Given the description of an element on the screen output the (x, y) to click on. 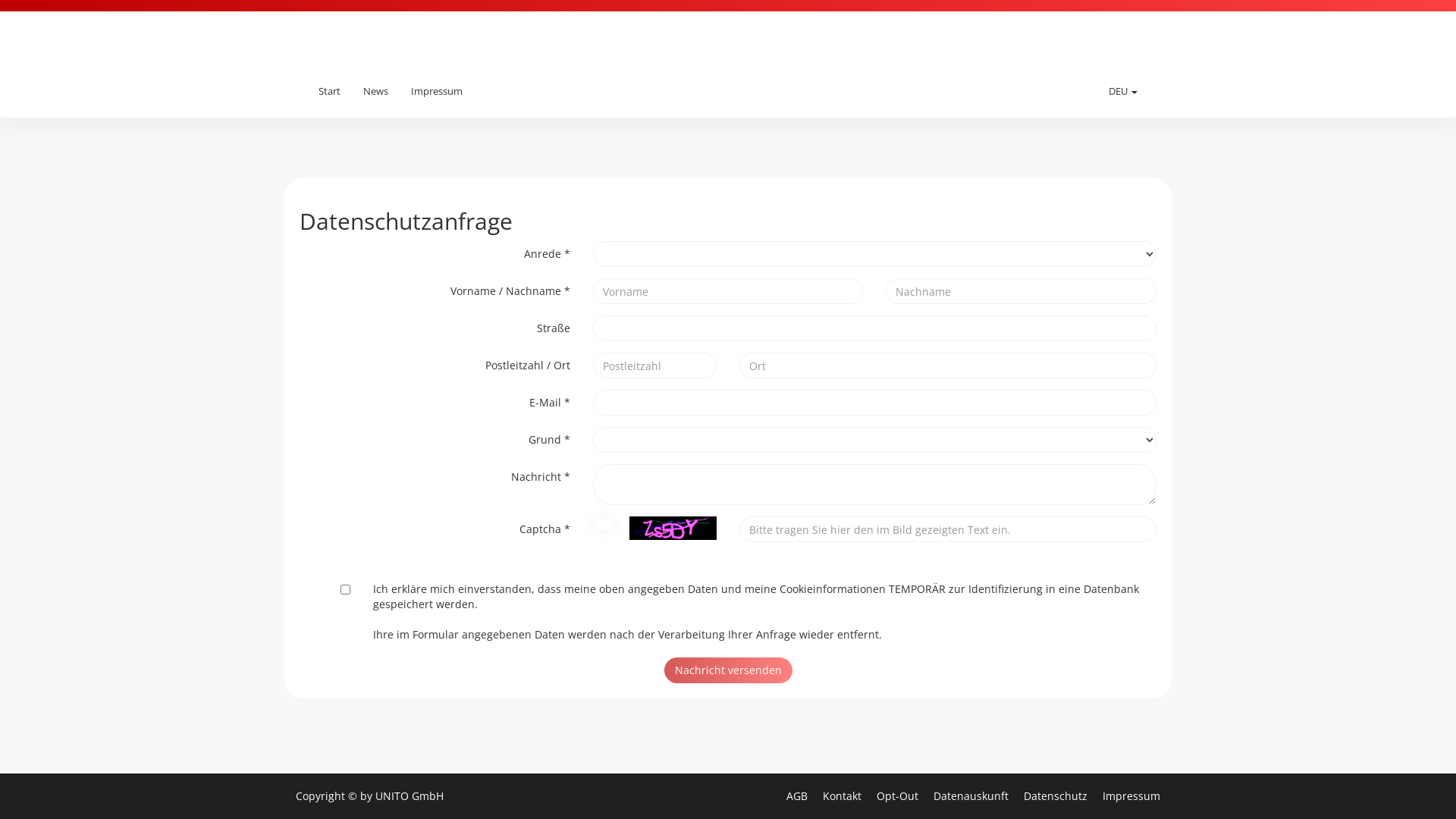
Start Element type: text (329, 90)
Kontakt Element type: text (843, 795)
DEU Element type: text (1122, 90)
Opt-Out Element type: text (898, 795)
Datenschutz Element type: text (1056, 795)
Impressum Element type: text (1131, 795)
AGB Element type: text (798, 795)
Impressum Element type: text (436, 90)
Datenauskunft Element type: text (972, 795)
Nachricht versenden Element type: text (728, 670)
News Element type: text (375, 90)
